Given the description of an element on the screen output the (x, y) to click on. 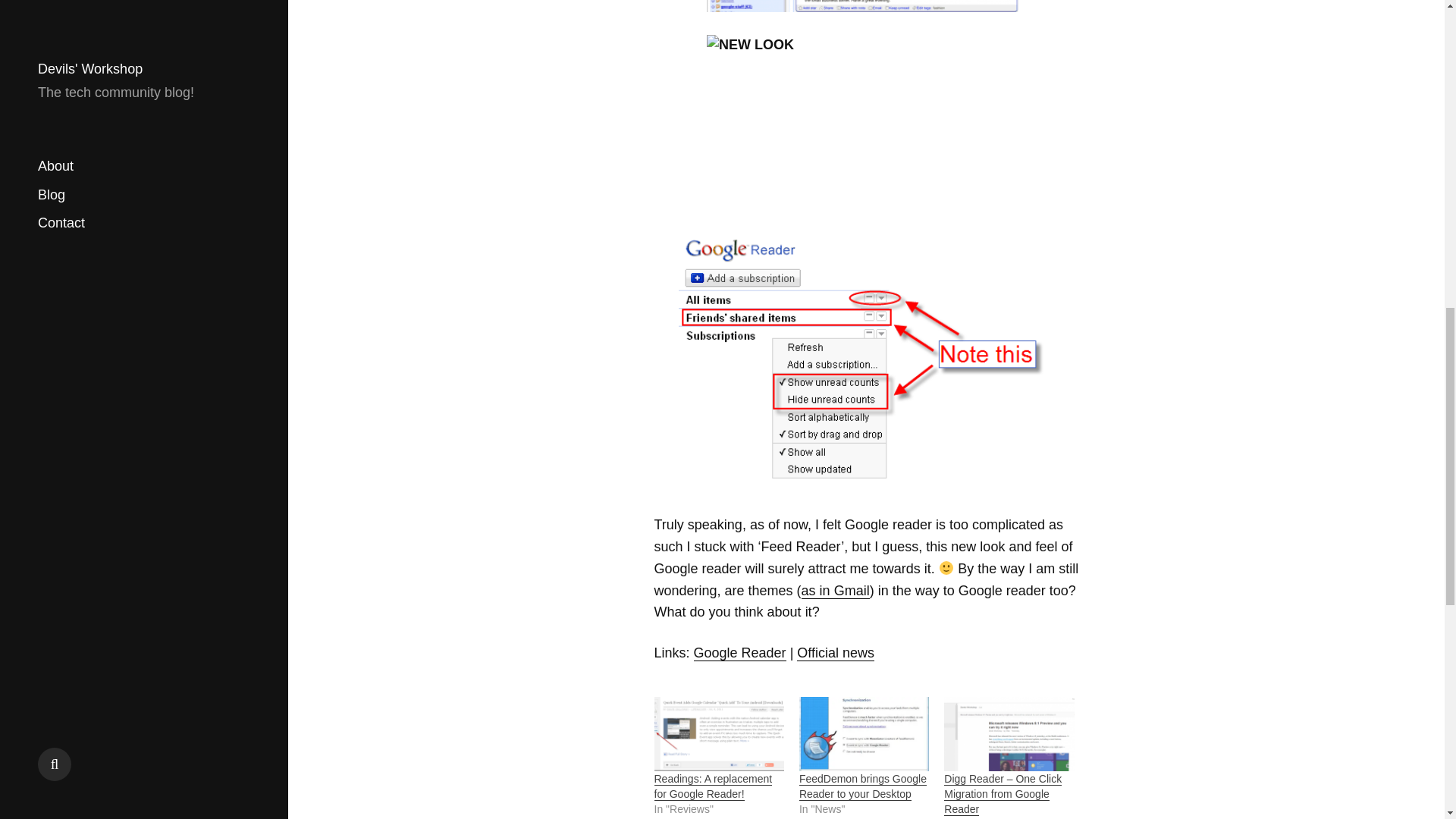
greader new look (861, 124)
Official news (835, 652)
FeedDemon brings Google Reader to your Desktop (862, 786)
greader Old look (861, 6)
Readings: A replacement for Google Reader! (712, 786)
greader11 (866, 364)
Google Reader (740, 652)
FeedDemon brings Google Reader to your Desktop (863, 733)
as in Gmail (835, 590)
FeedDemon brings Google Reader to your Desktop (862, 786)
Readings: A replacement for Google Reader! (718, 733)
Readings: A replacement for Google Reader! (712, 786)
